Given the description of an element on the screen output the (x, y) to click on. 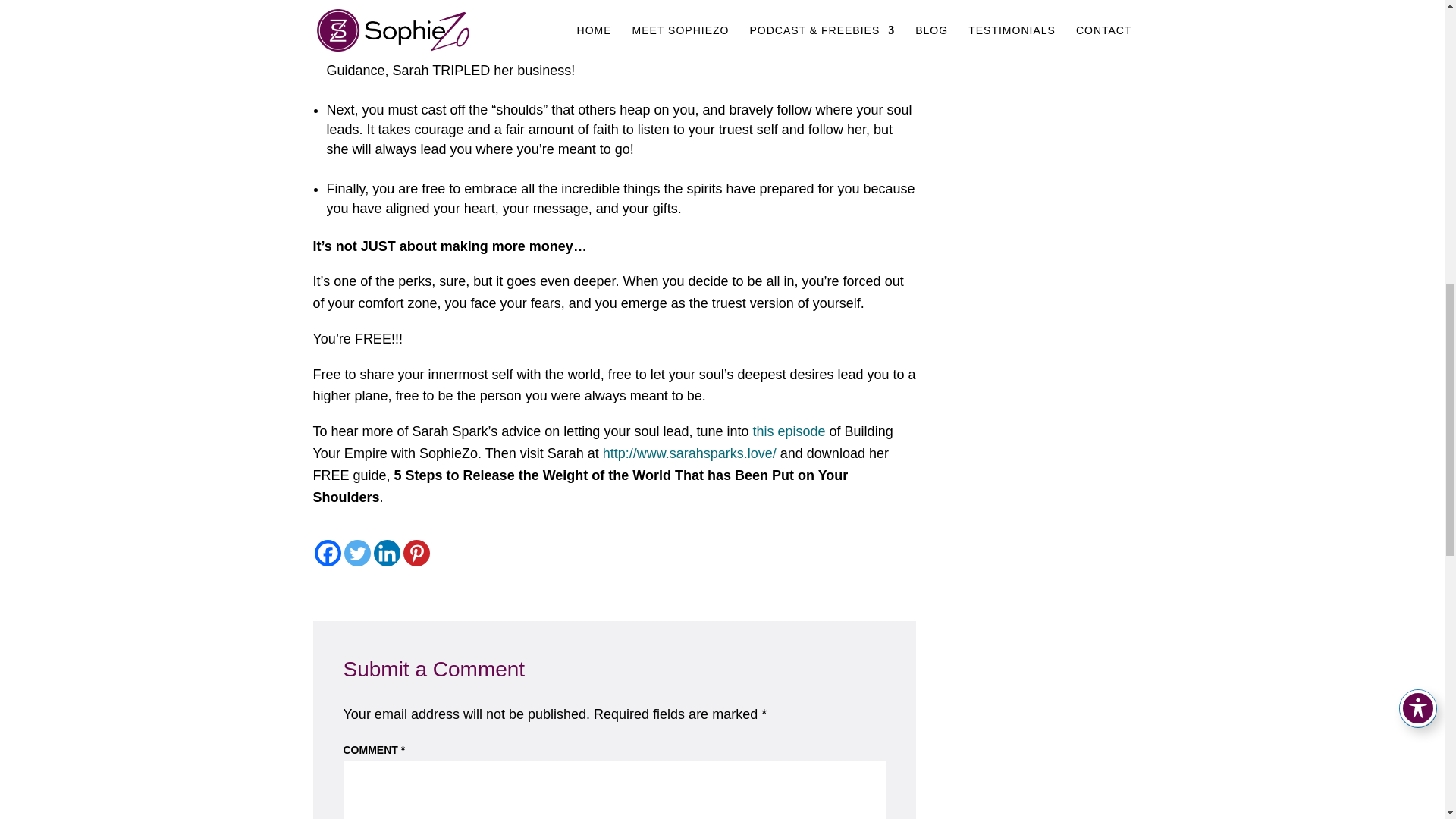
Linkedin (385, 552)
Twitter (357, 552)
Pinterest (416, 552)
Facebook (327, 552)
this episode (788, 431)
